Given the description of an element on the screen output the (x, y) to click on. 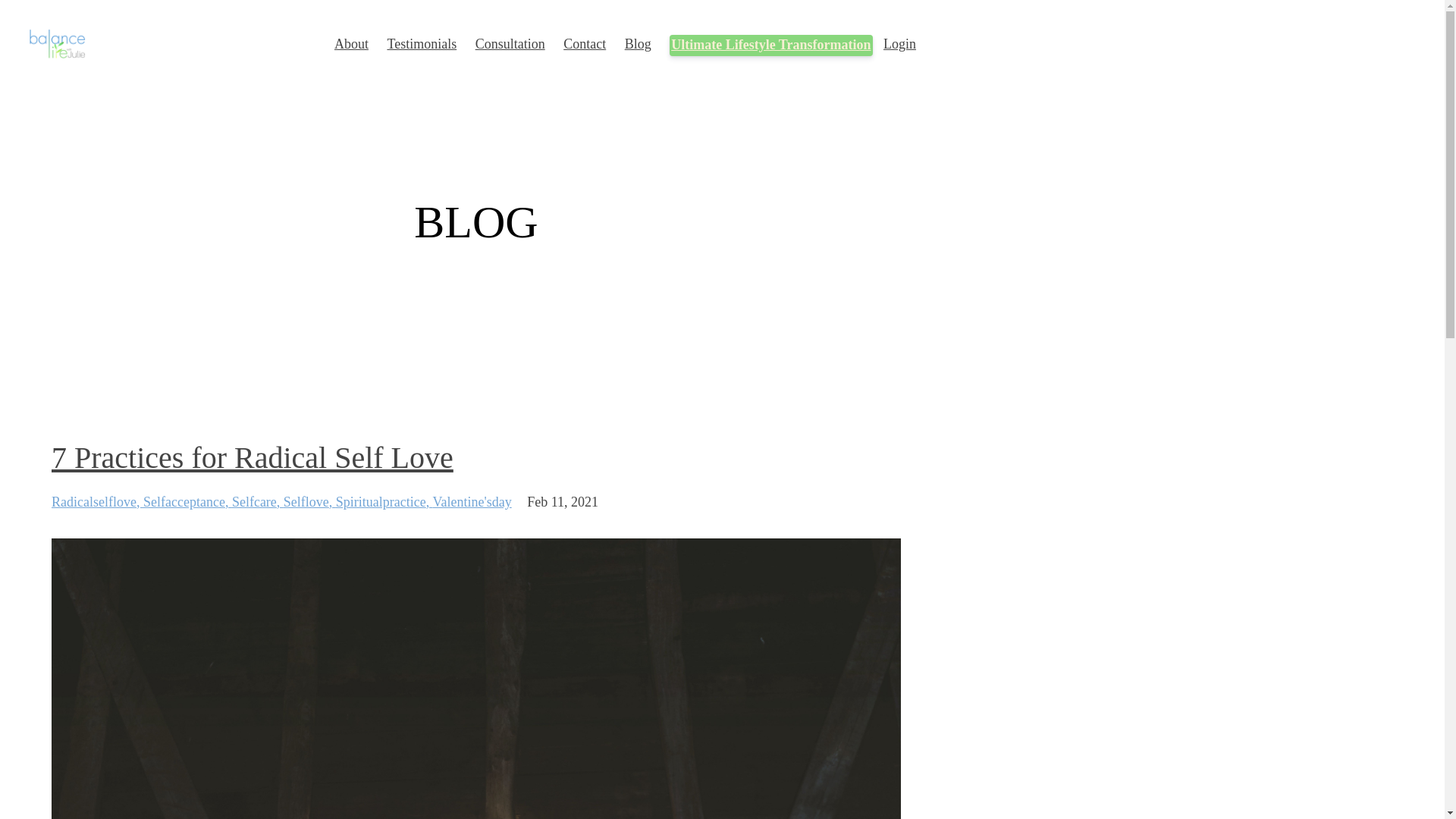
Selfcare (257, 501)
Selfacceptance (186, 501)
Radicalselflove (96, 501)
About (351, 43)
Spiritualpractice (384, 501)
Testimonials (422, 43)
Ultimate Lifestyle Transformation (770, 45)
Valentine'Sday (471, 501)
Selflove (309, 501)
Contact (584, 43)
7 Practices for Radical Self Love (251, 457)
Consultation (510, 43)
Login (899, 43)
Blog (637, 43)
